Given the description of an element on the screen output the (x, y) to click on. 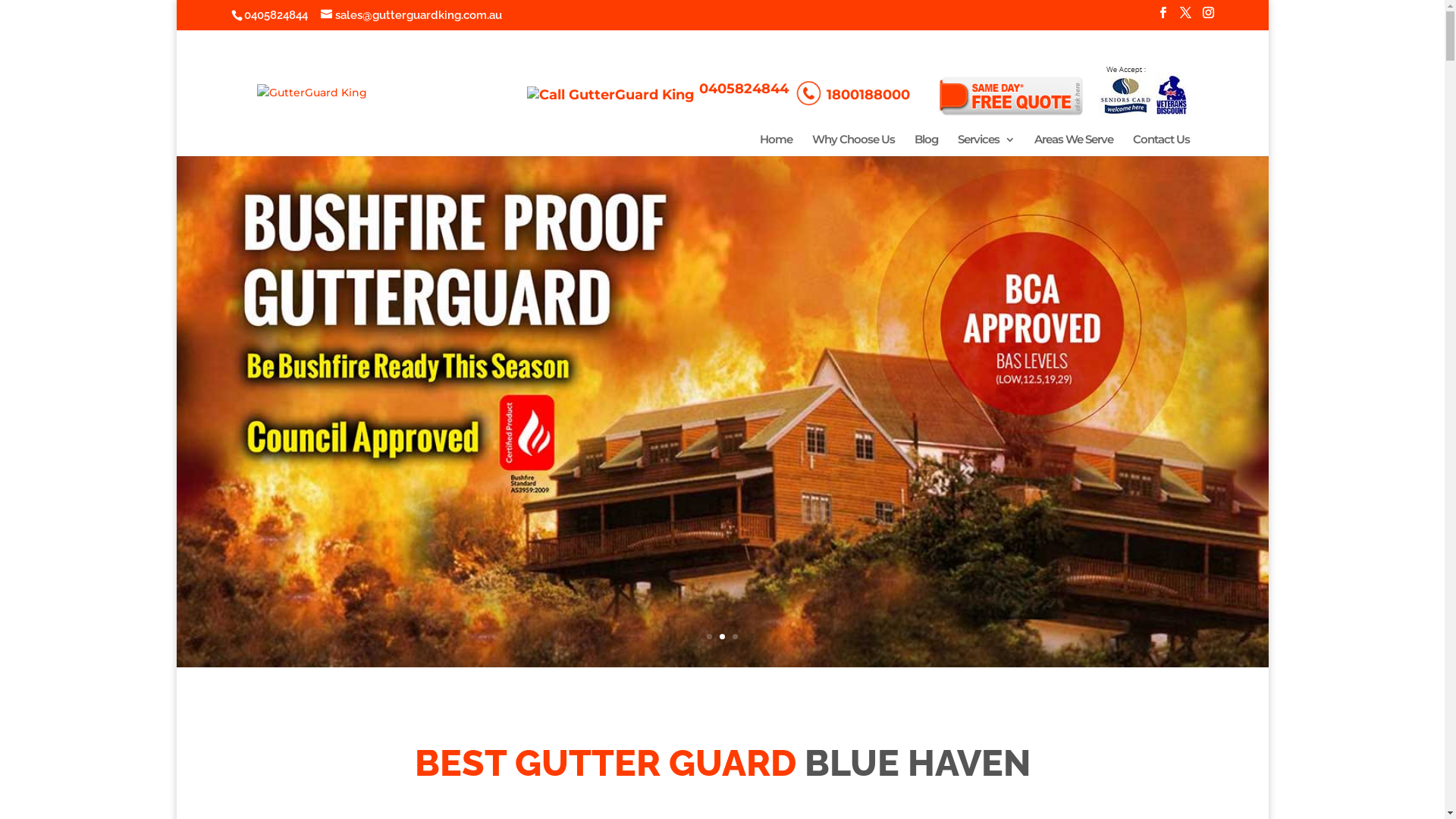
Blog Element type: text (926, 144)
Areas We Serve Element type: text (1073, 144)
1 Element type: text (709, 636)
Services Element type: text (985, 144)
0405824844 Element type: text (660, 93)
2 Element type: text (721, 636)
3 Element type: text (734, 636)
Why Choose Us Element type: text (852, 144)
sales@gutterguardking.com.au Element type: text (410, 14)
0405824844 Element type: text (275, 14)
1800188000 Element type: text (855, 99)
Contact Us Element type: text (1160, 144)
Home Element type: text (775, 144)
